Given the description of an element on the screen output the (x, y) to click on. 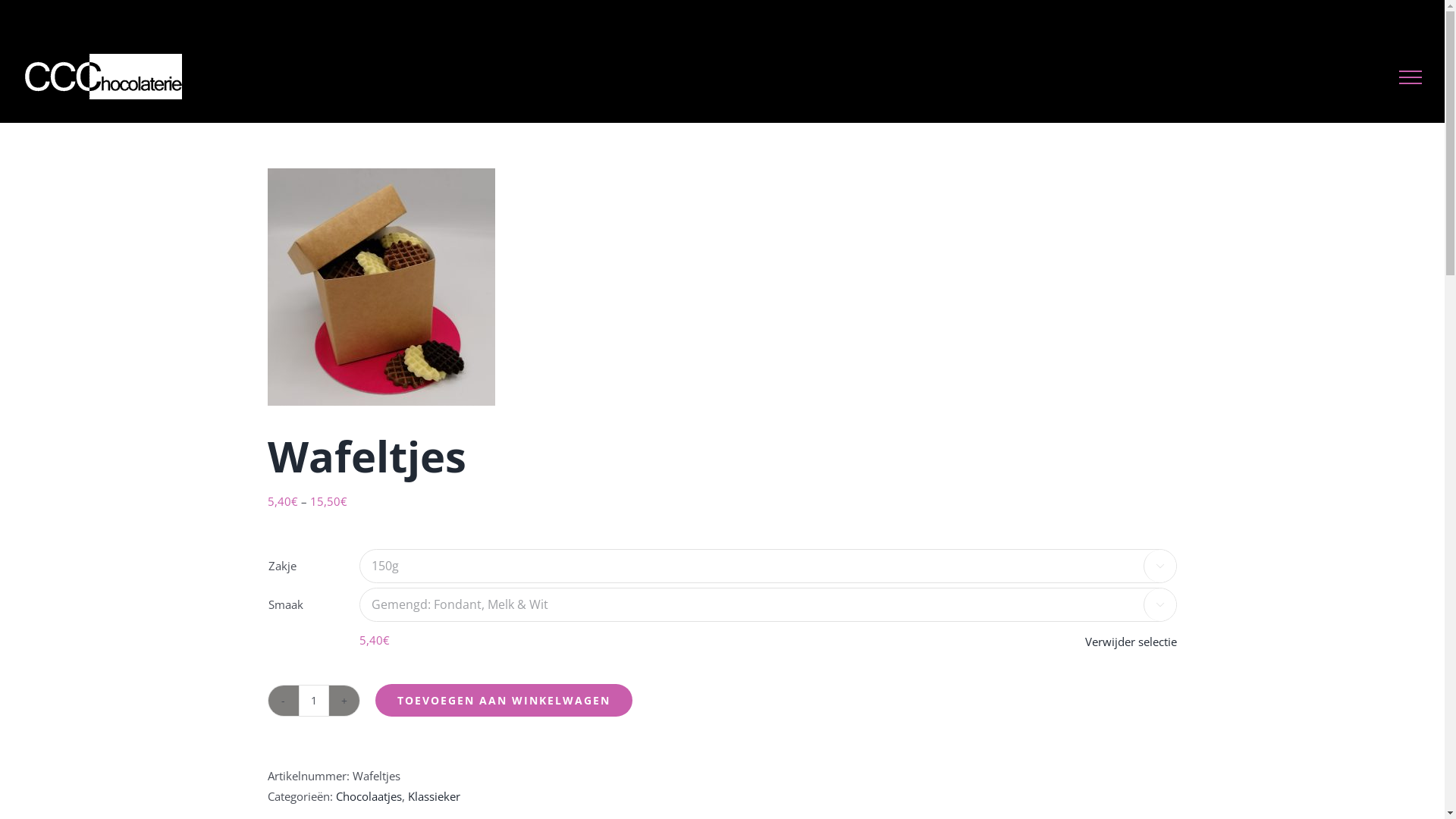
Verwijder selectie Element type: text (1130, 641)
TOEVOEGEN AAN WINKELWAGEN Element type: text (502, 700)
Foto Ballotin Doosje Chocolaatjes Element type: hover (380, 286)
Chocolaatjes Element type: text (368, 795)
Klassieker Element type: text (433, 795)
